Given the description of an element on the screen output the (x, y) to click on. 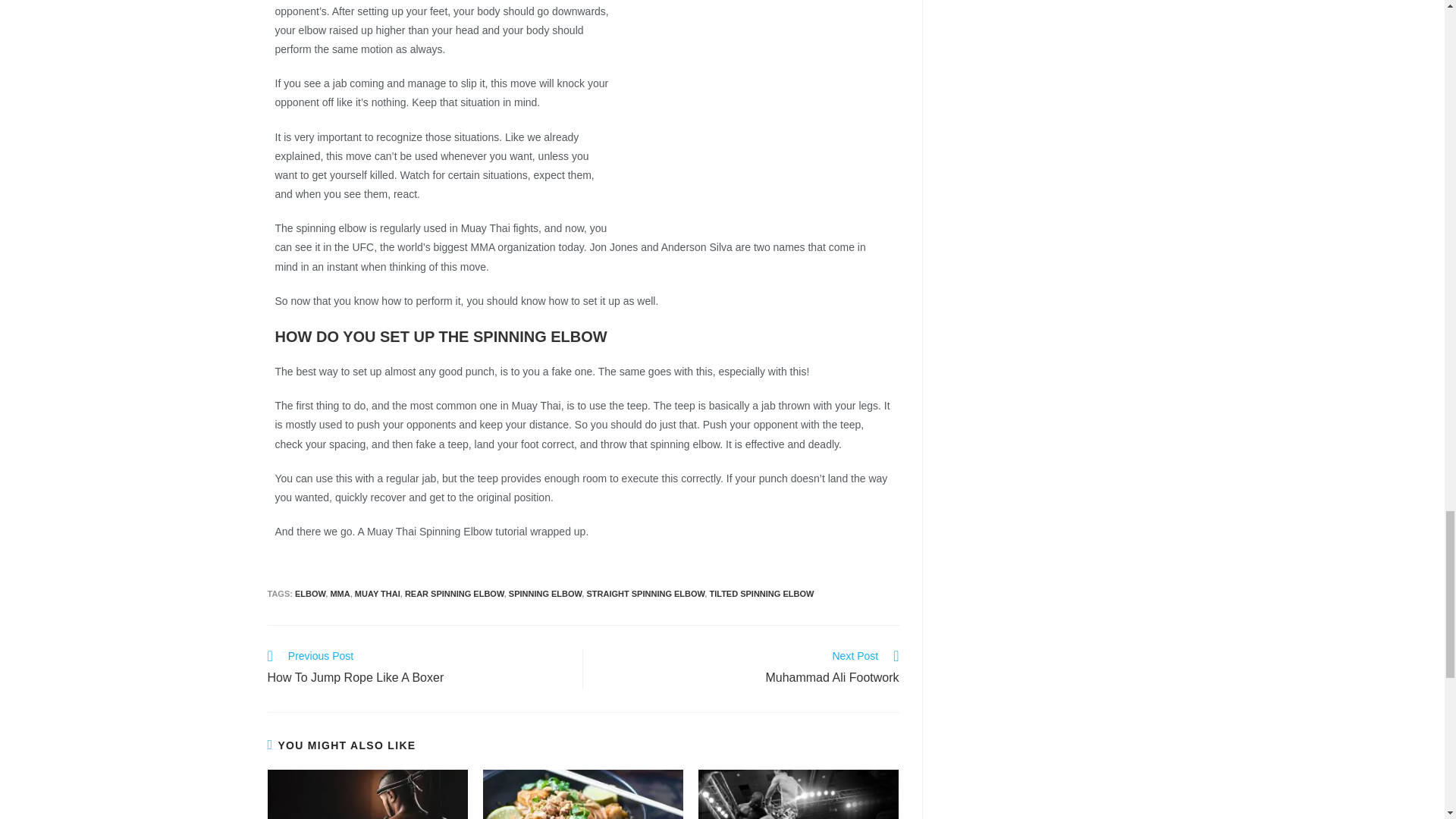
TILTED SPINNING ELBOW (761, 593)
SPINNING ELBOW (545, 593)
MMA (339, 593)
STRAIGHT SPINNING ELBOW (748, 668)
ELBOW (645, 593)
REAR SPINNING ELBOW (309, 593)
MUAY THAI (453, 593)
